Given the description of an element on the screen output the (x, y) to click on. 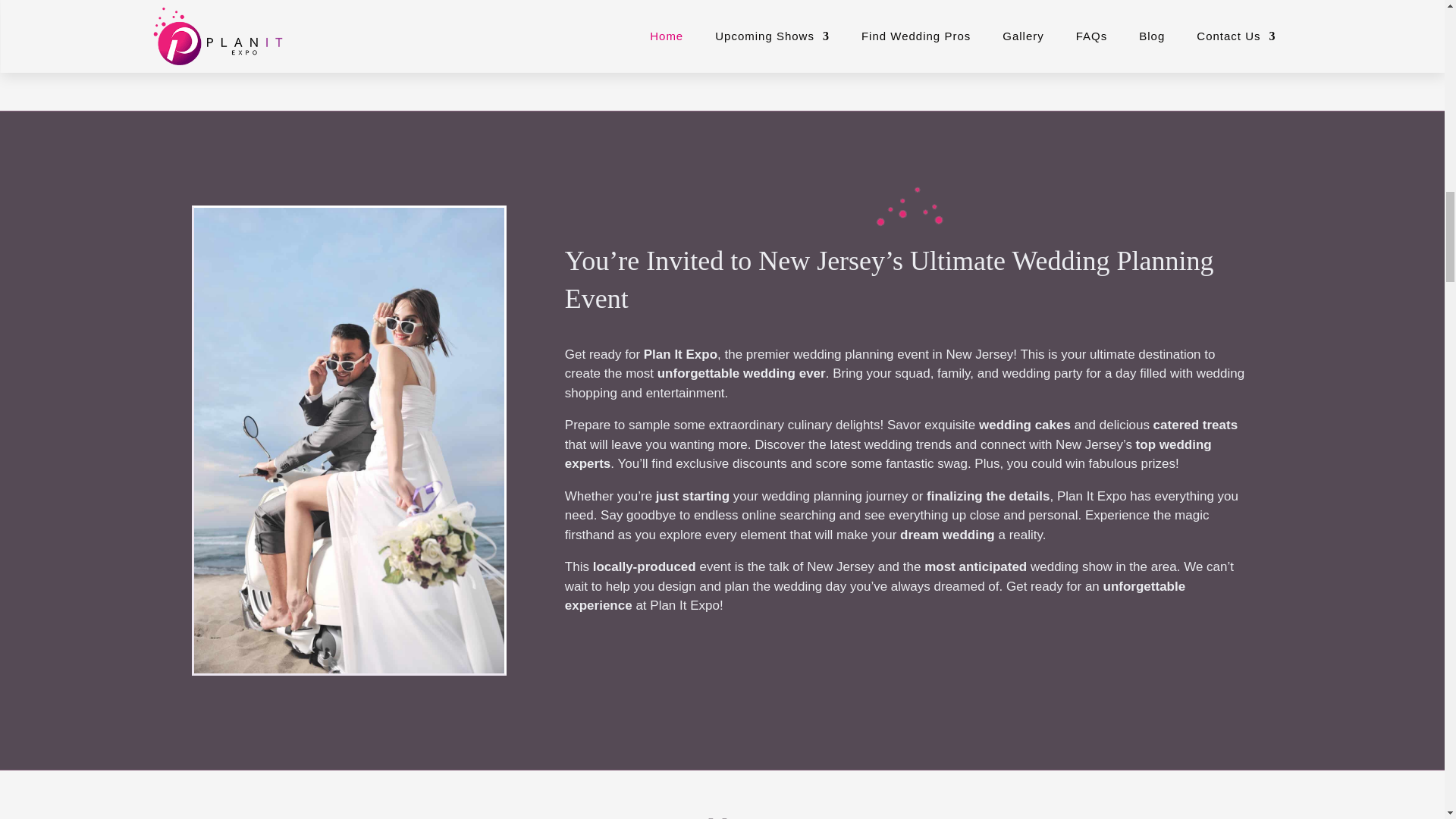
PIE-Dots-2 (908, 206)
